Given the description of an element on the screen output the (x, y) to click on. 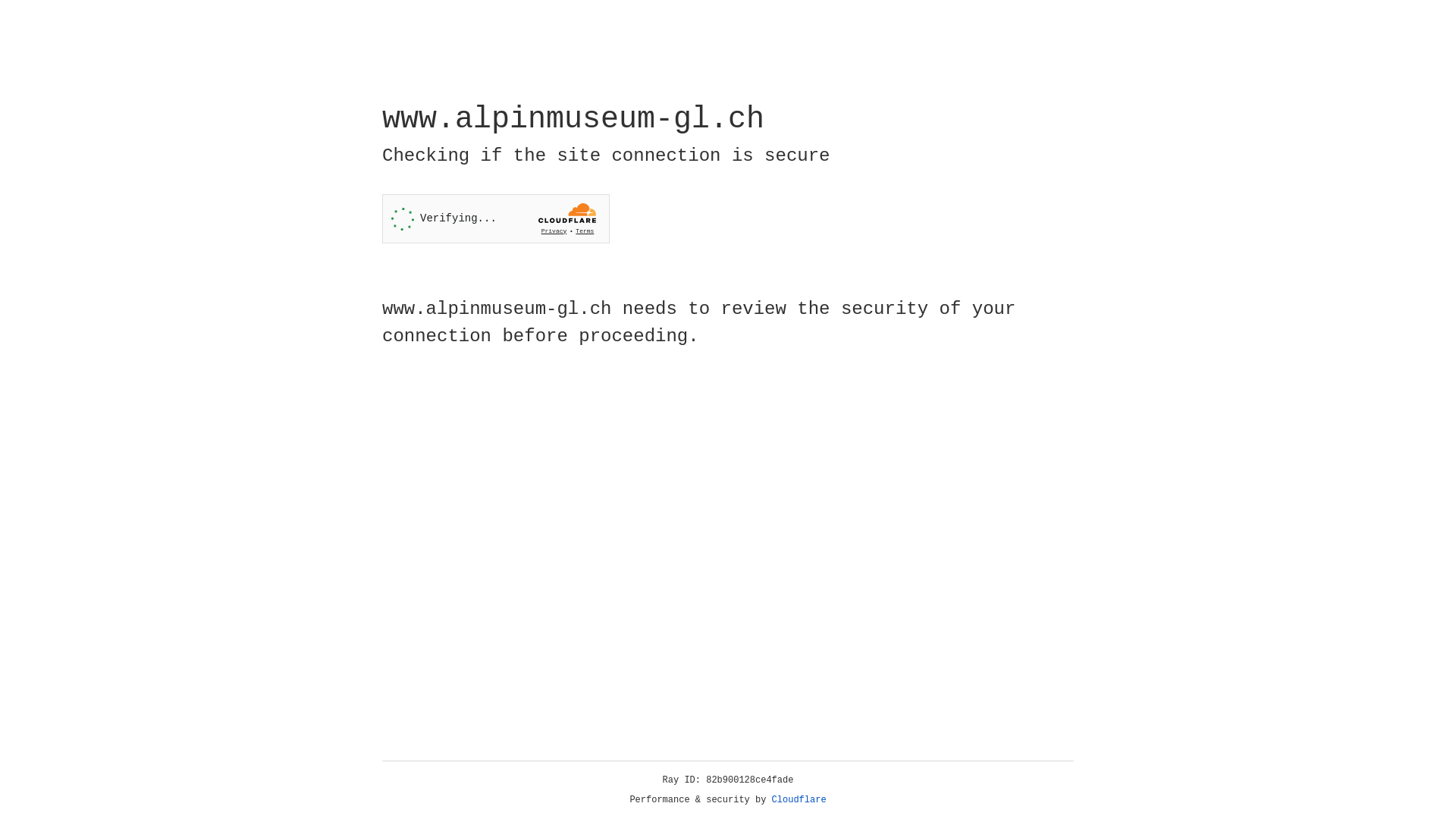
Widget containing a Cloudflare security challenge Element type: hover (495, 218)
Cloudflare Element type: text (165, 107)
